Given the description of an element on the screen output the (x, y) to click on. 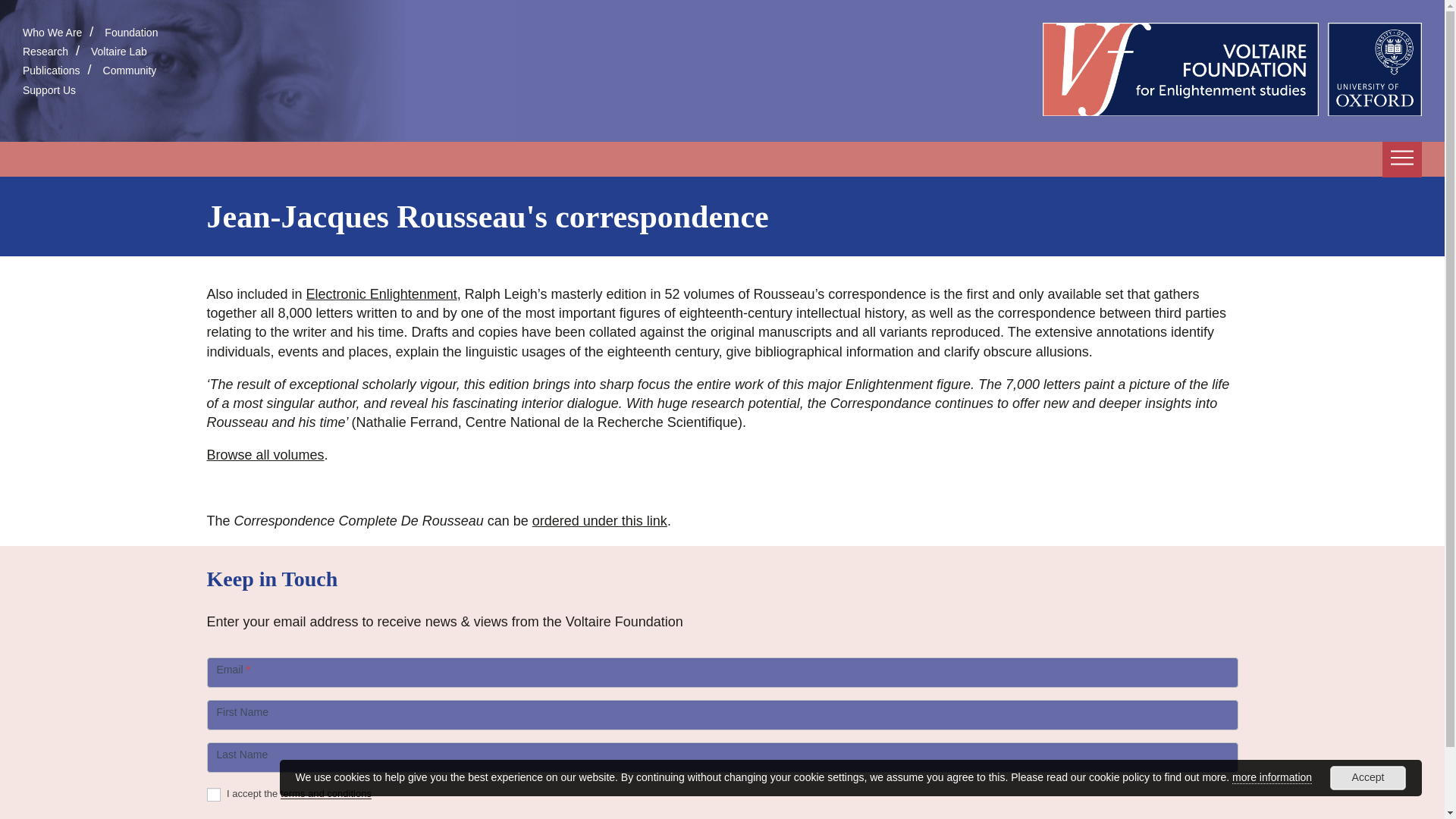
Menu (1401, 158)
terms and conditions (326, 794)
Accept (1368, 777)
Browse all volumes (264, 454)
Support Us (49, 90)
Research (45, 51)
ordered under this link (599, 520)
more information (1271, 777)
Voltaire Lab (118, 51)
Publications (51, 70)
